Given the description of an element on the screen output the (x, y) to click on. 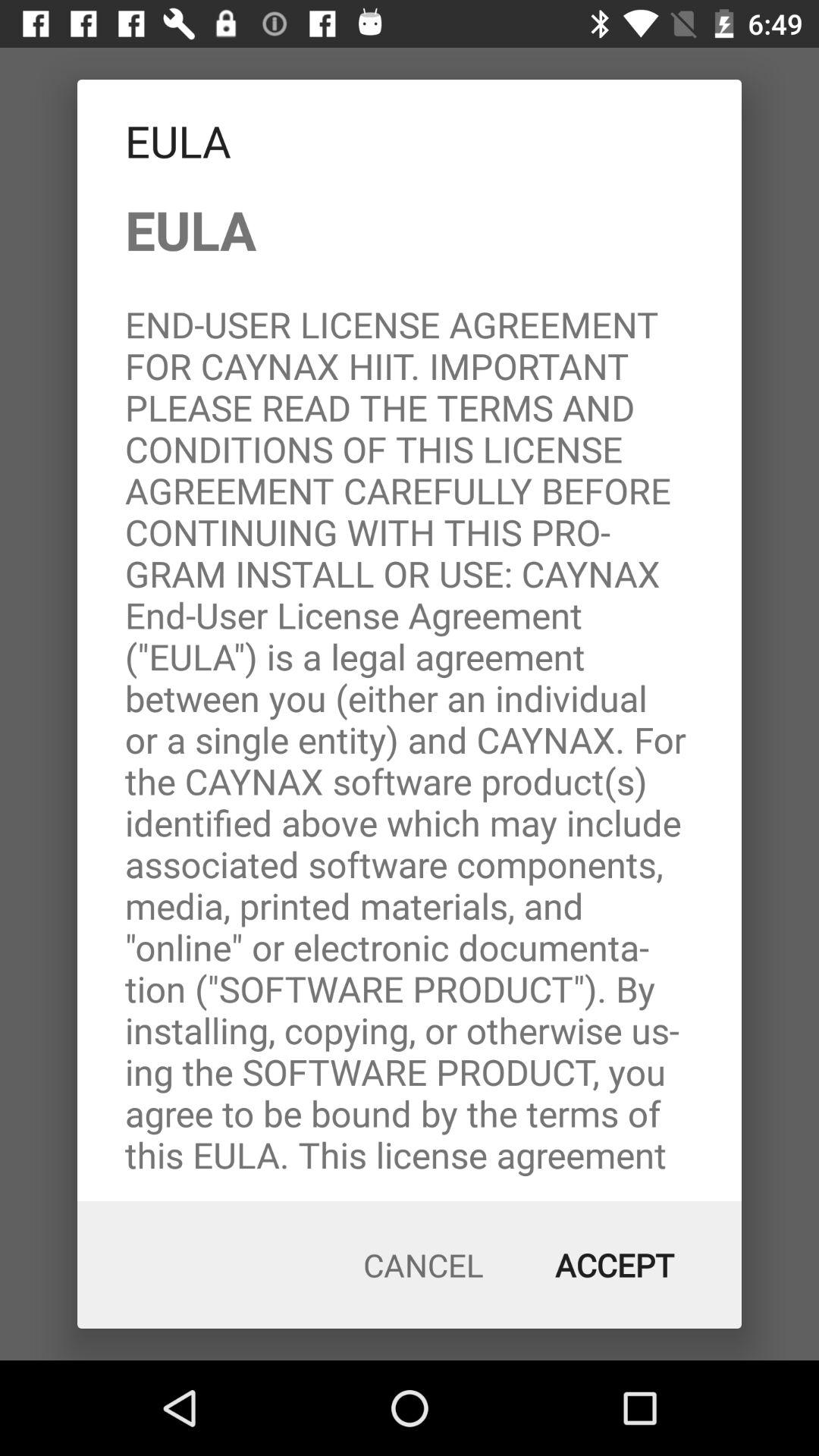
choose the item below the eula end user app (422, 1264)
